Given the description of an element on the screen output the (x, y) to click on. 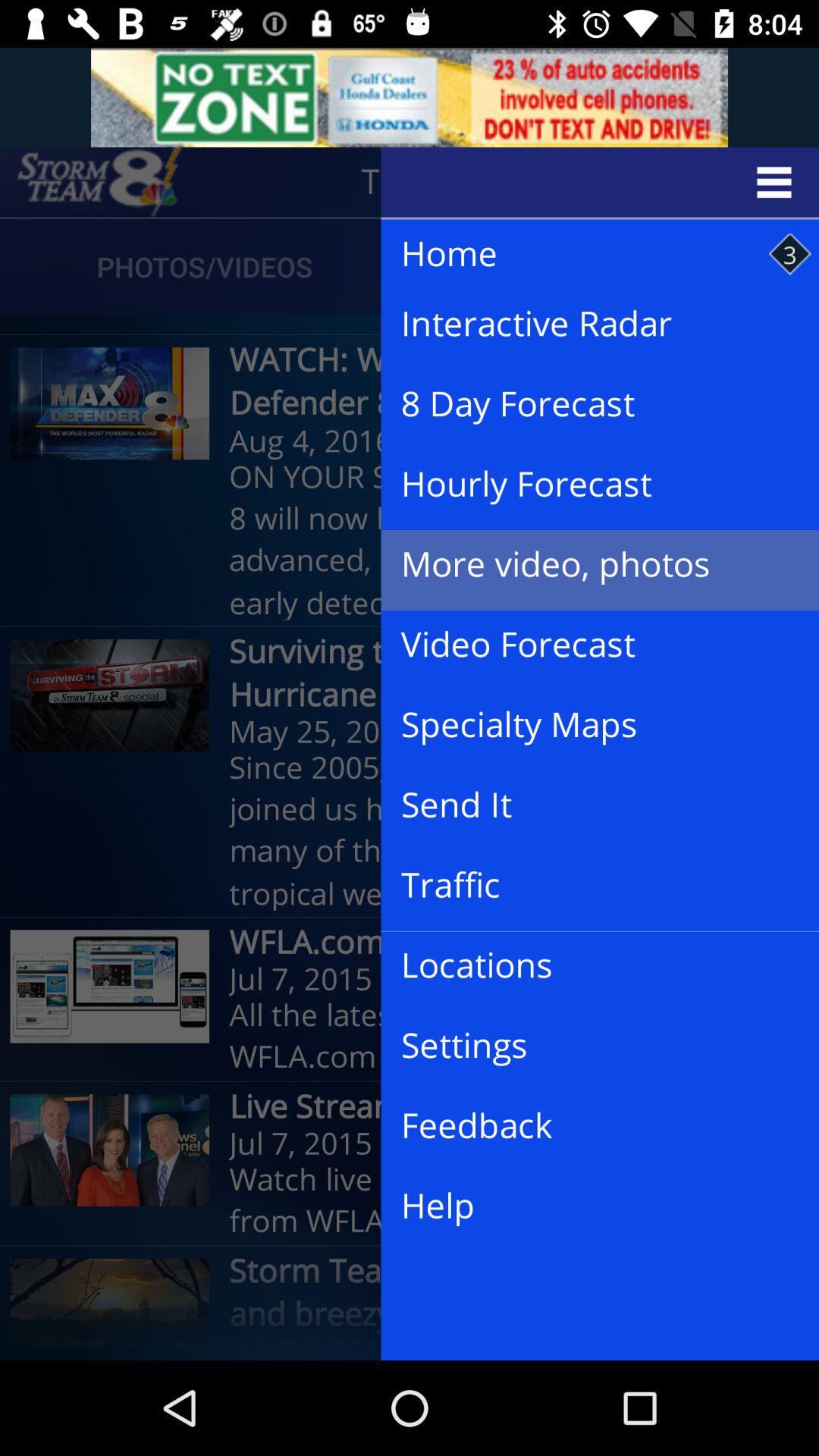
turn on the home (584, 254)
